Given the description of an element on the screen output the (x, y) to click on. 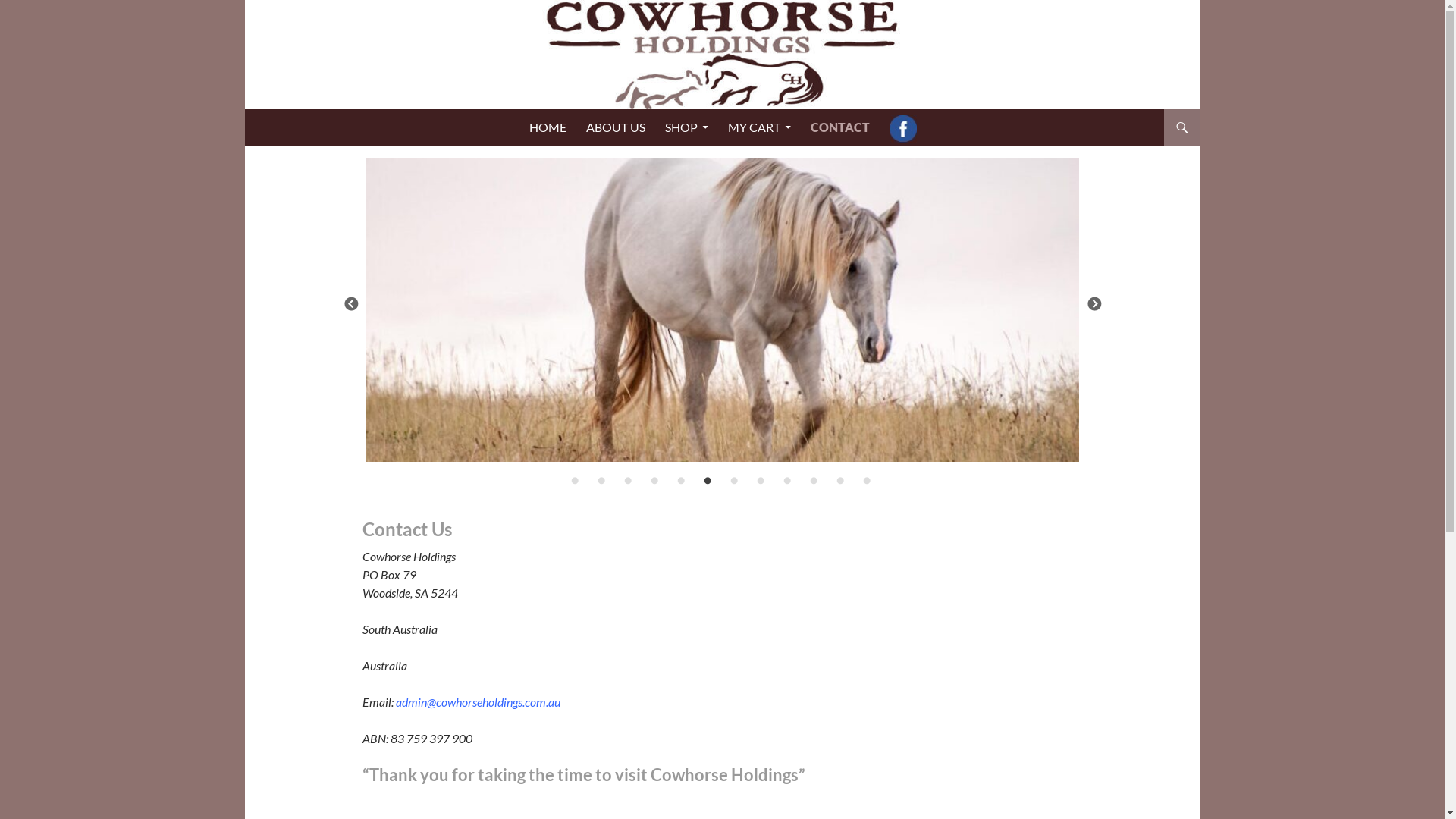
CONTACT Element type: text (839, 127)
MY CART Element type: text (759, 127)
SKIP TO CONTENT Element type: text (730, 108)
1 Element type: text (574, 481)
6 Element type: text (706, 481)
Search Element type: text (247, 108)
admin@cowhorseholdings.com.au Element type: text (477, 701)
5 Element type: text (680, 481)
HOME Element type: text (547, 127)
11 Element type: text (839, 481)
7 Element type: text (733, 481)
ABOUT US Element type: text (615, 127)
8 Element type: text (759, 481)
2 Element type: text (600, 481)
NEXT Element type: text (1093, 304)
SHOP Element type: text (686, 127)
9 Element type: text (786, 481)
PREVIOUS Element type: text (349, 304)
3 Element type: text (627, 481)
12 Element type: text (865, 481)
4 Element type: text (653, 481)
10 Element type: text (812, 481)
